Given the description of an element on the screen output the (x, y) to click on. 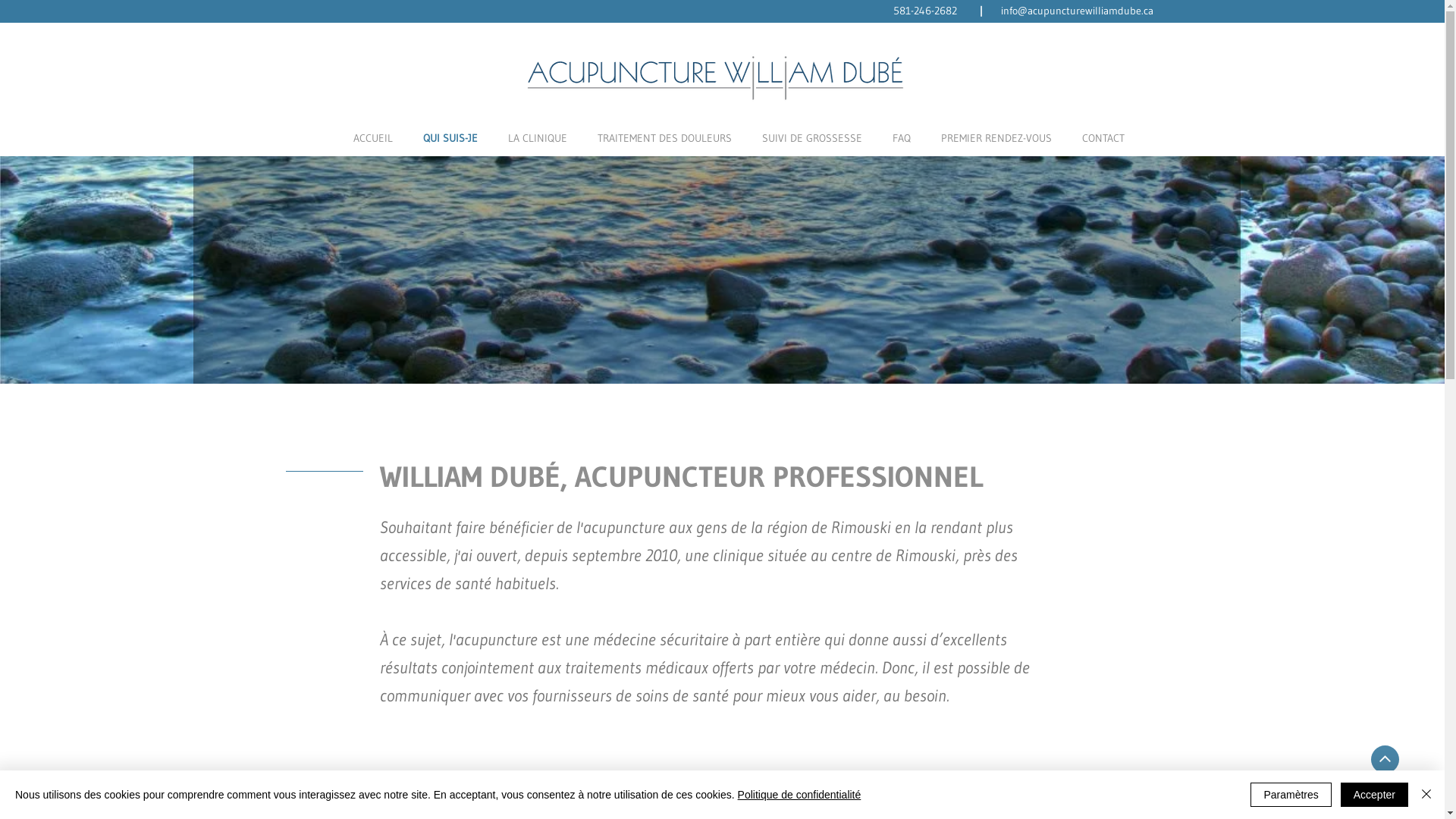
581-246-2682 Element type: text (925, 10)
SUIVI DE GROSSESSE Element type: text (811, 138)
CONTACT Element type: text (1102, 138)
PREMIER RENDEZ-VOUS Element type: text (995, 138)
QUI SUIS-JE Element type: text (449, 138)
Accepter Element type: text (1374, 794)
TRAITEMENT DES DOULEURS Element type: text (664, 138)
FAQ Element type: text (900, 138)
LA CLINIQUE Element type: text (537, 138)
ACCUEIL Element type: text (372, 138)
info@acupuncturewilliamdube.ca Element type: text (1075, 10)
